Given the description of an element on the screen output the (x, y) to click on. 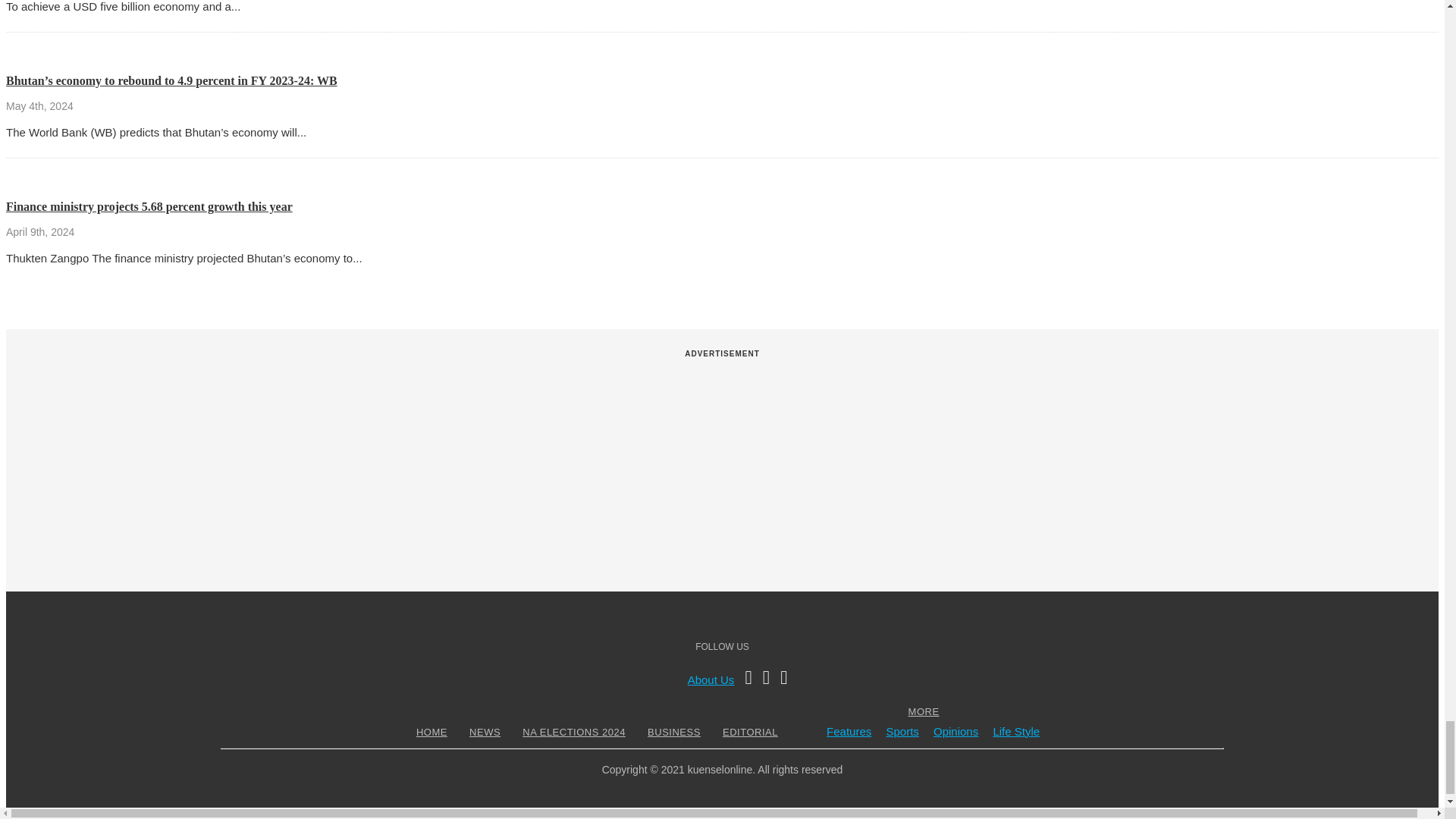
HOME (431, 731)
BUSINESS (673, 731)
NEWS (484, 731)
Finance ministry projects 5.68 percent growth this year (148, 205)
NA ELECTIONS 2024 (573, 731)
About Us (711, 679)
MORE (923, 711)
EDITORIAL (750, 731)
